Given the description of an element on the screen output the (x, y) to click on. 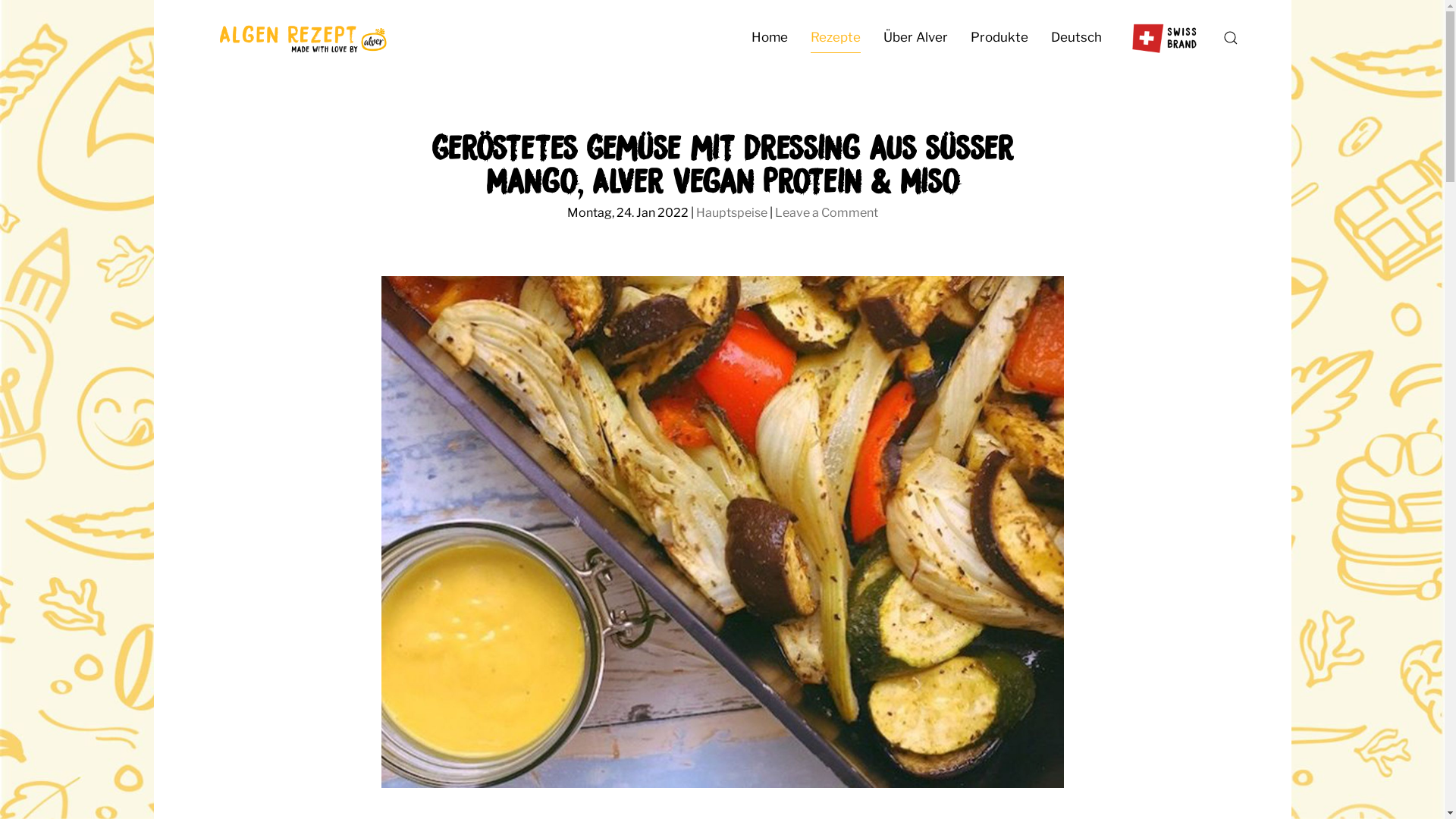
Hauptspeise Element type: text (731, 212)
Algen Rezepte | Made with love by Alver World SA Element type: hover (300, 38)
Leave a Comment Element type: text (826, 212)
Deutsch Element type: text (1075, 37)
Produkte Element type: text (998, 37)
Rezepte Element type: text (835, 37)
Home Element type: text (769, 37)
